Given the description of an element on the screen output the (x, y) to click on. 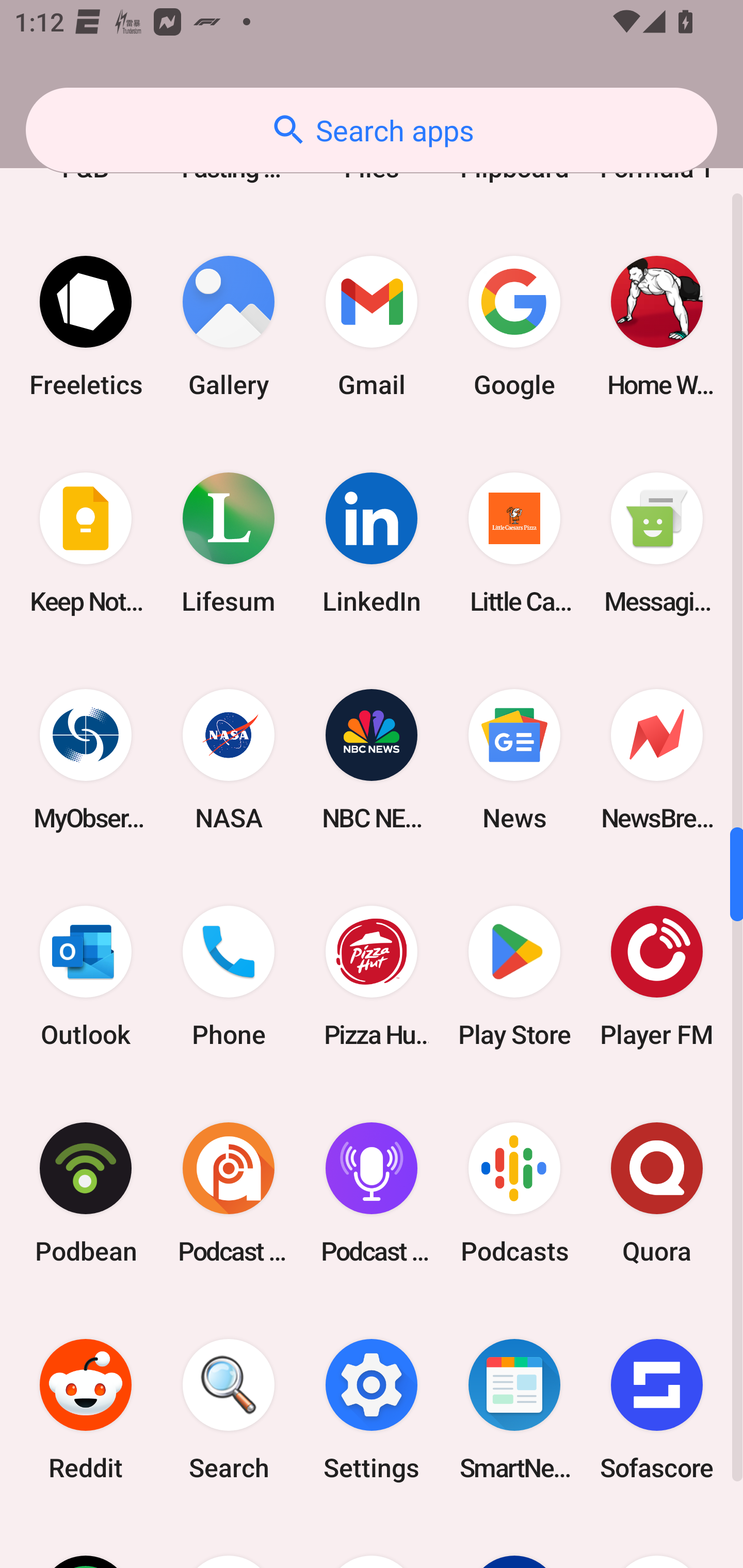
  Search apps (371, 130)
Freeletics (85, 325)
Gallery (228, 325)
Gmail (371, 325)
Google (514, 325)
Home Workout (656, 325)
Keep Notes (85, 542)
Lifesum (228, 542)
LinkedIn (371, 542)
Little Caesars Pizza (514, 542)
Messaging (656, 542)
MyObservatory (85, 759)
NASA (228, 759)
NBC NEWS (371, 759)
News (514, 759)
NewsBreak (656, 759)
Outlook (85, 976)
Phone (228, 976)
Pizza Hut HK & Macau (371, 976)
Play Store (514, 976)
Player FM (656, 976)
Podbean (85, 1193)
Podcast Addict (228, 1193)
Podcast Player (371, 1193)
Podcasts (514, 1193)
Quora (656, 1193)
Reddit (85, 1409)
Search (228, 1409)
Settings (371, 1409)
SmartNews (514, 1409)
Sofascore (656, 1409)
